Given the description of an element on the screen output the (x, y) to click on. 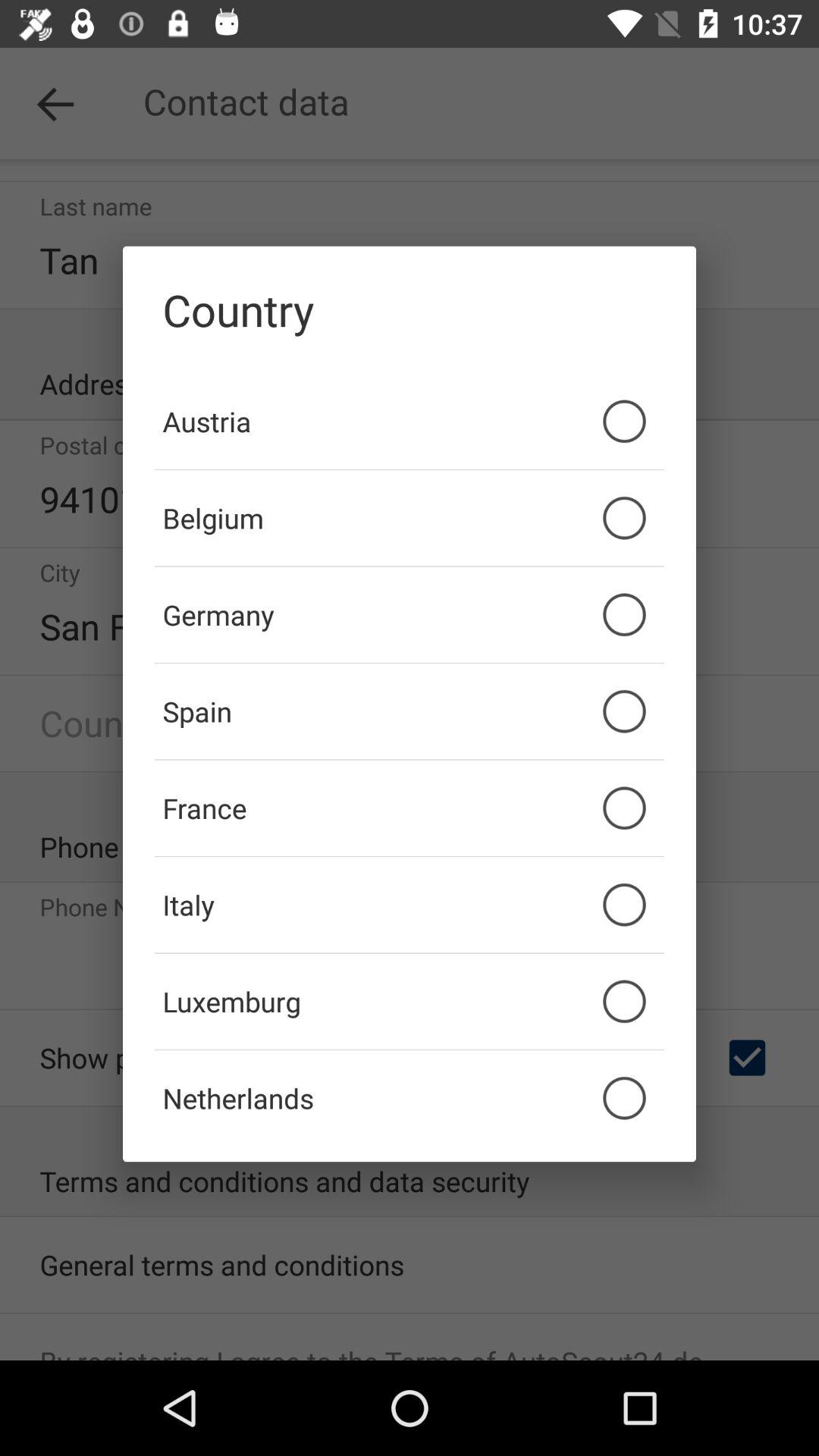
launch the france icon (409, 807)
